Given the description of an element on the screen output the (x, y) to click on. 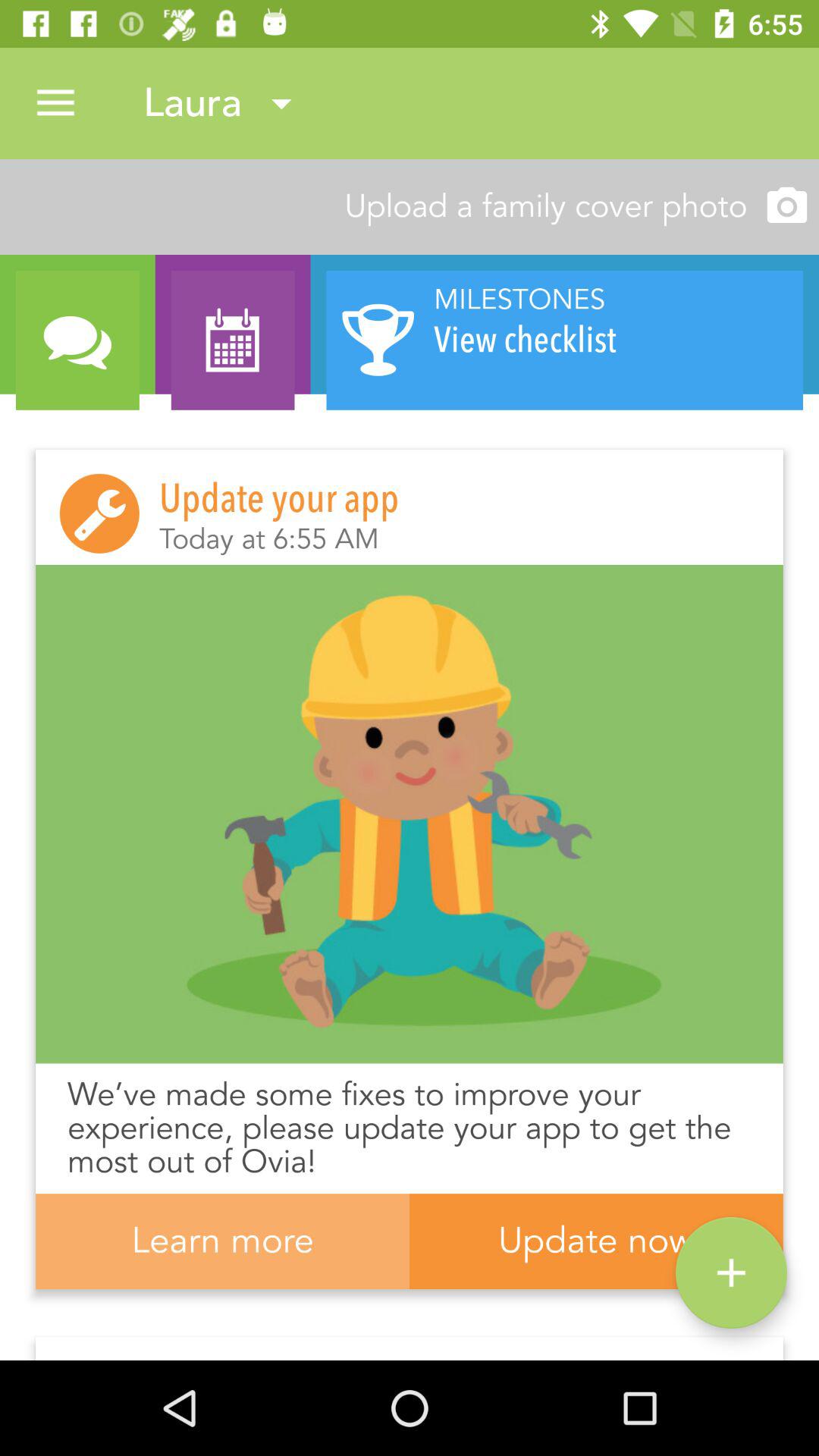
swipe until laura (224, 103)
